Given the description of an element on the screen output the (x, y) to click on. 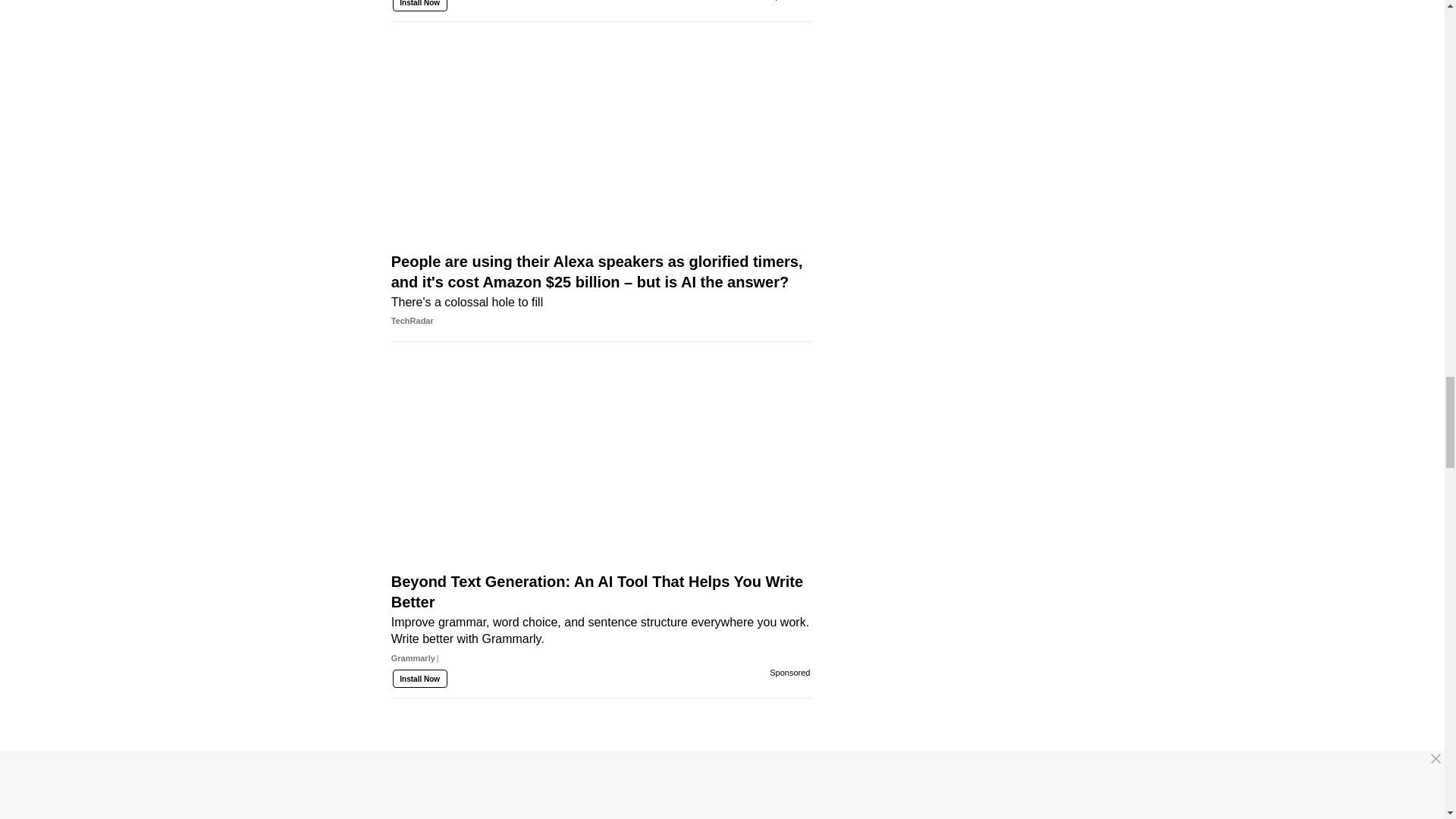
What is your writing missing? (600, 11)
